Given the description of an element on the screen output the (x, y) to click on. 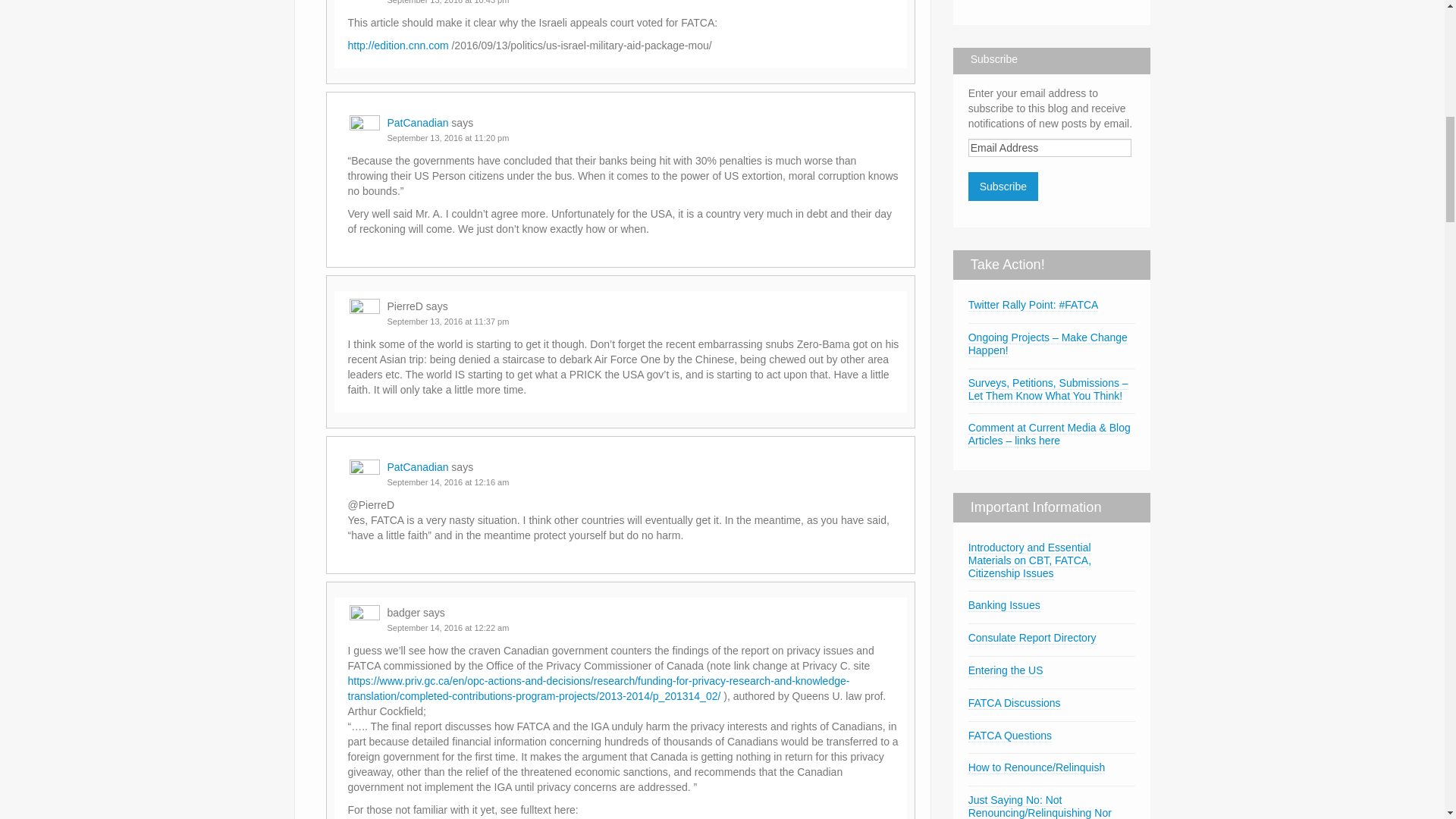
Email Address (1050, 147)
September 13, 2016 at 10:43 pm (447, 2)
September 14, 2016 at 12:22 am (447, 627)
PatCanadian (417, 122)
PatCanadian (417, 467)
September 13, 2016 at 11:20 pm (447, 137)
September 13, 2016 at 11:37 pm (447, 320)
September 14, 2016 at 12:16 am (447, 481)
Subscribe (1003, 185)
